Given the description of an element on the screen output the (x, y) to click on. 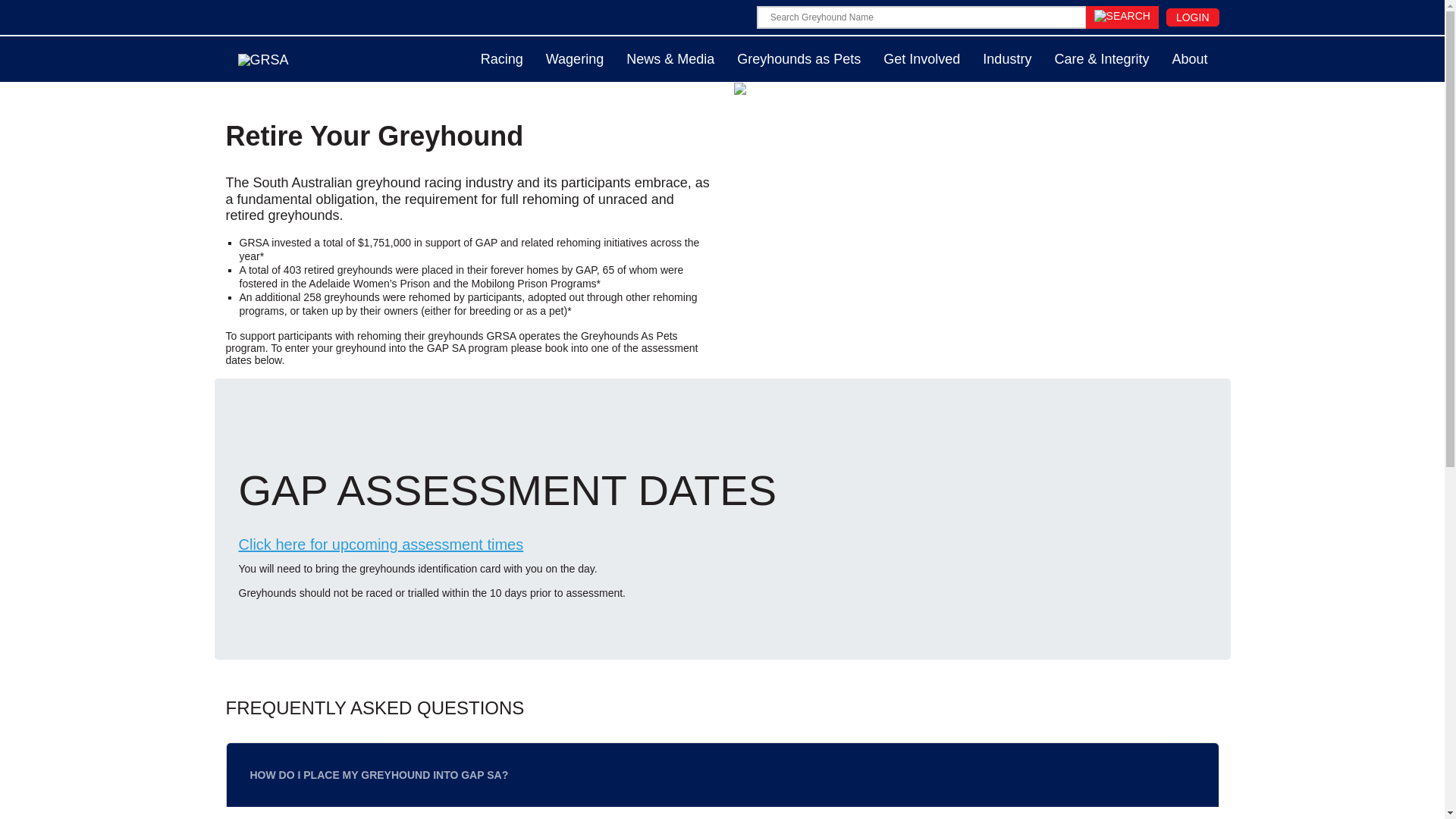
Get Involved (921, 58)
LOGIN (1193, 17)
Racing (501, 58)
Greyhounds as Pets (798, 58)
Wagering (574, 58)
